Given the description of an element on the screen output the (x, y) to click on. 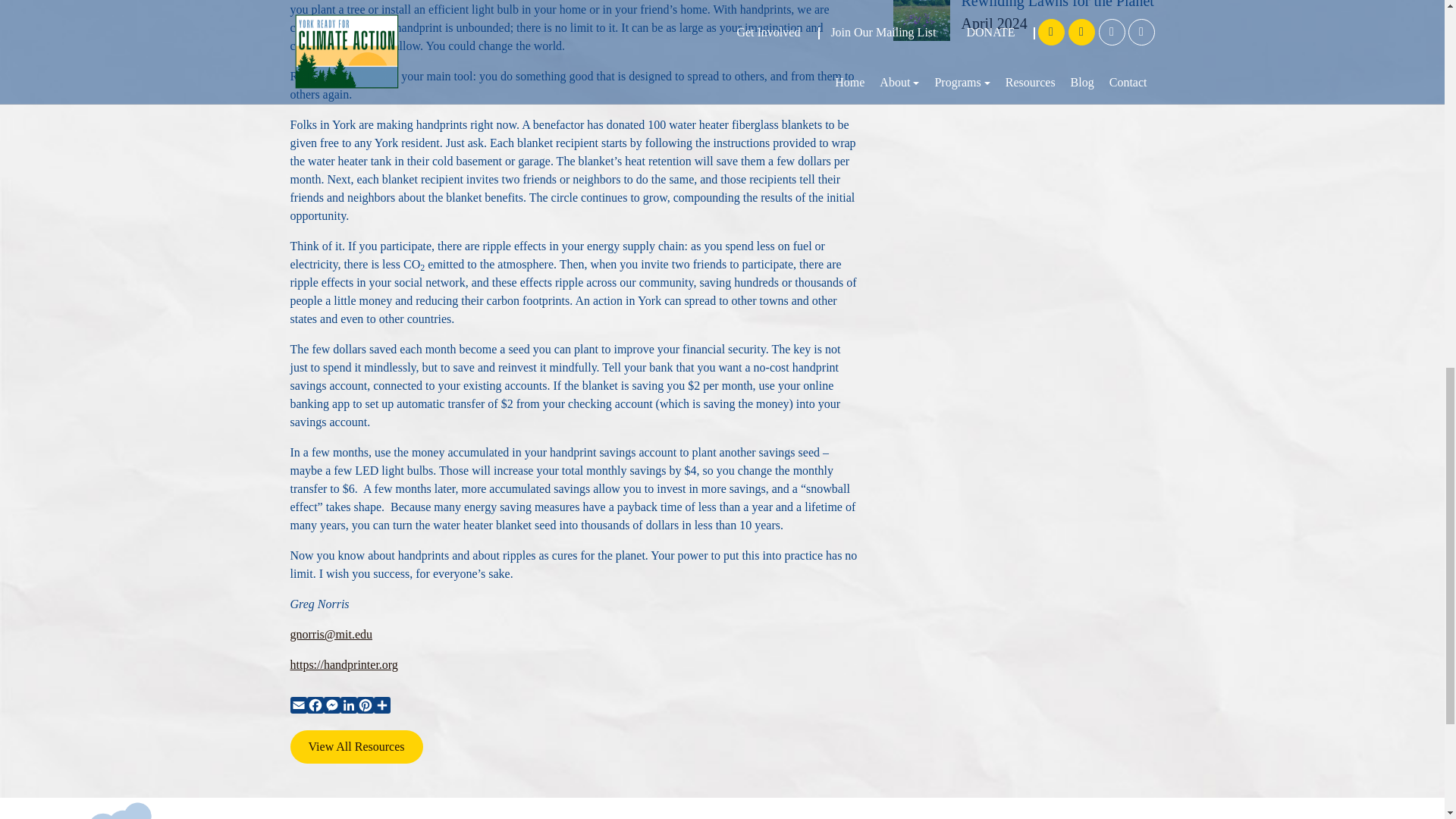
Messenger (331, 707)
Facebook (314, 707)
View All Resources (355, 746)
LinkedIn (347, 707)
Email (297, 707)
Email (297, 707)
Pinterest (364, 707)
